Given the description of an element on the screen output the (x, y) to click on. 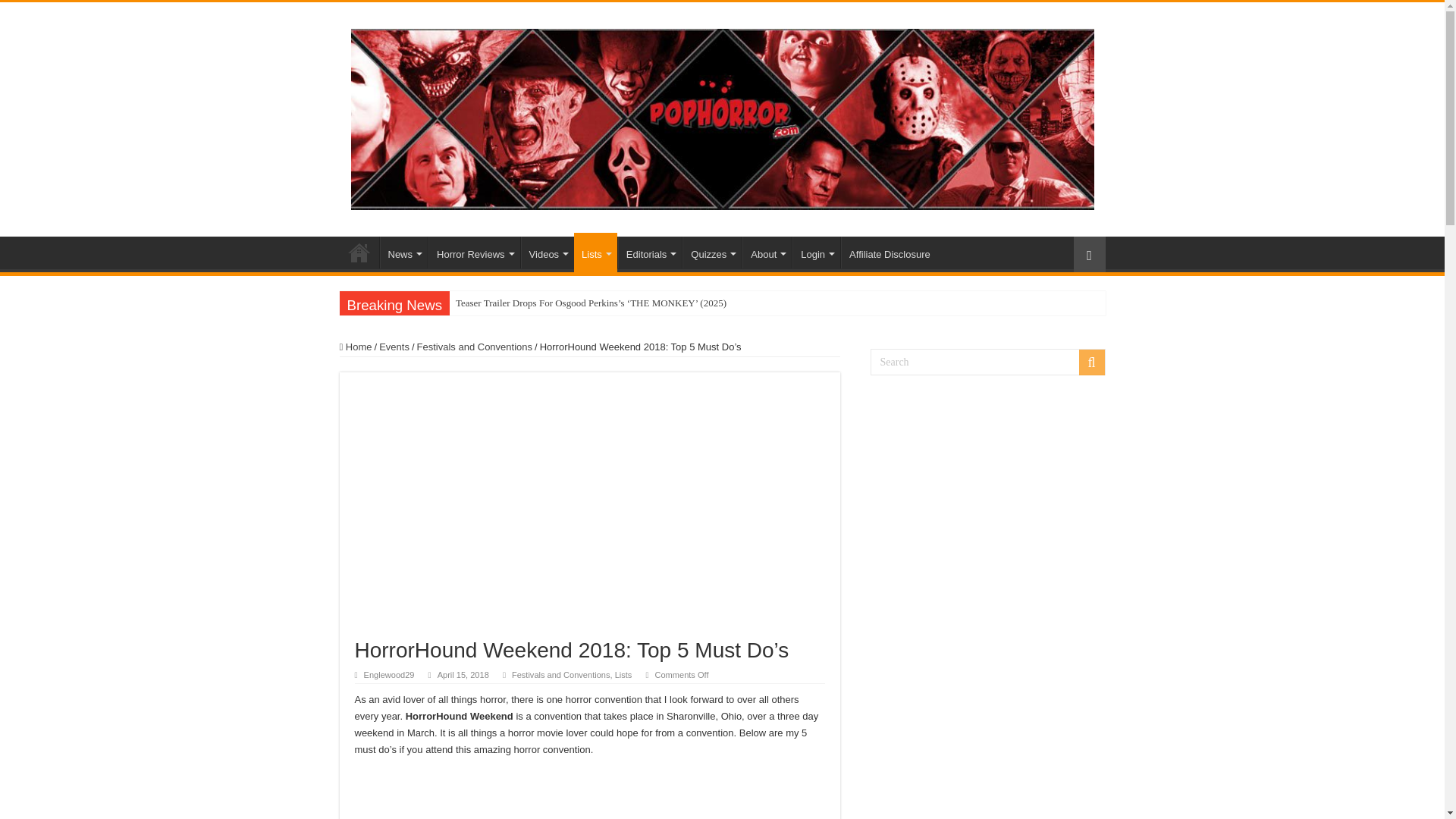
PopHorror (358, 252)
Videos (548, 252)
Search (987, 361)
Horror Reviews (473, 252)
PopHorror (721, 116)
News (403, 252)
